Given the description of an element on the screen output the (x, y) to click on. 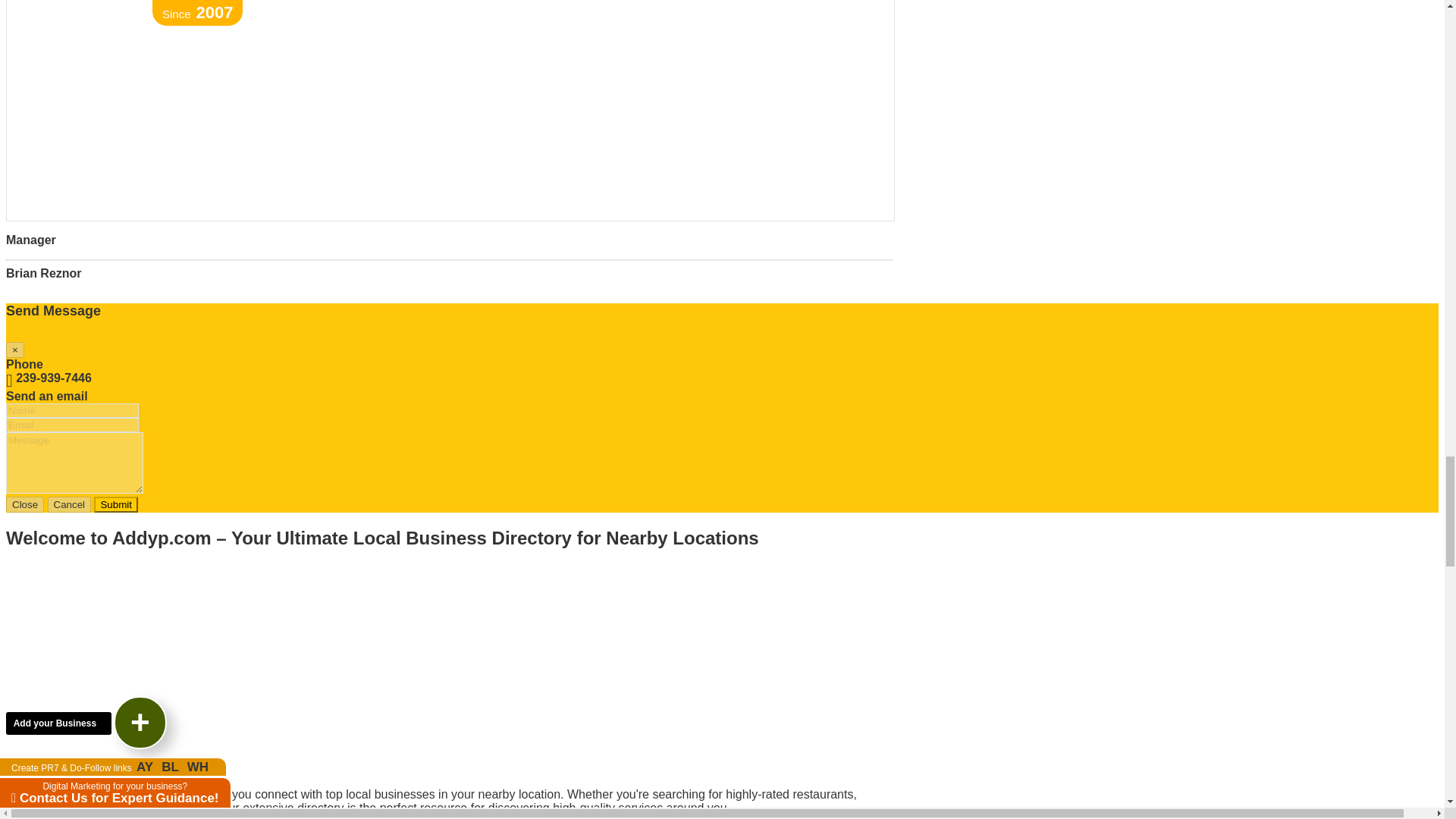
Close (24, 504)
239-939-7446 (48, 377)
Cancel (69, 504)
Submit (115, 504)
Brian Reznor (43, 273)
